Given the description of an element on the screen output the (x, y) to click on. 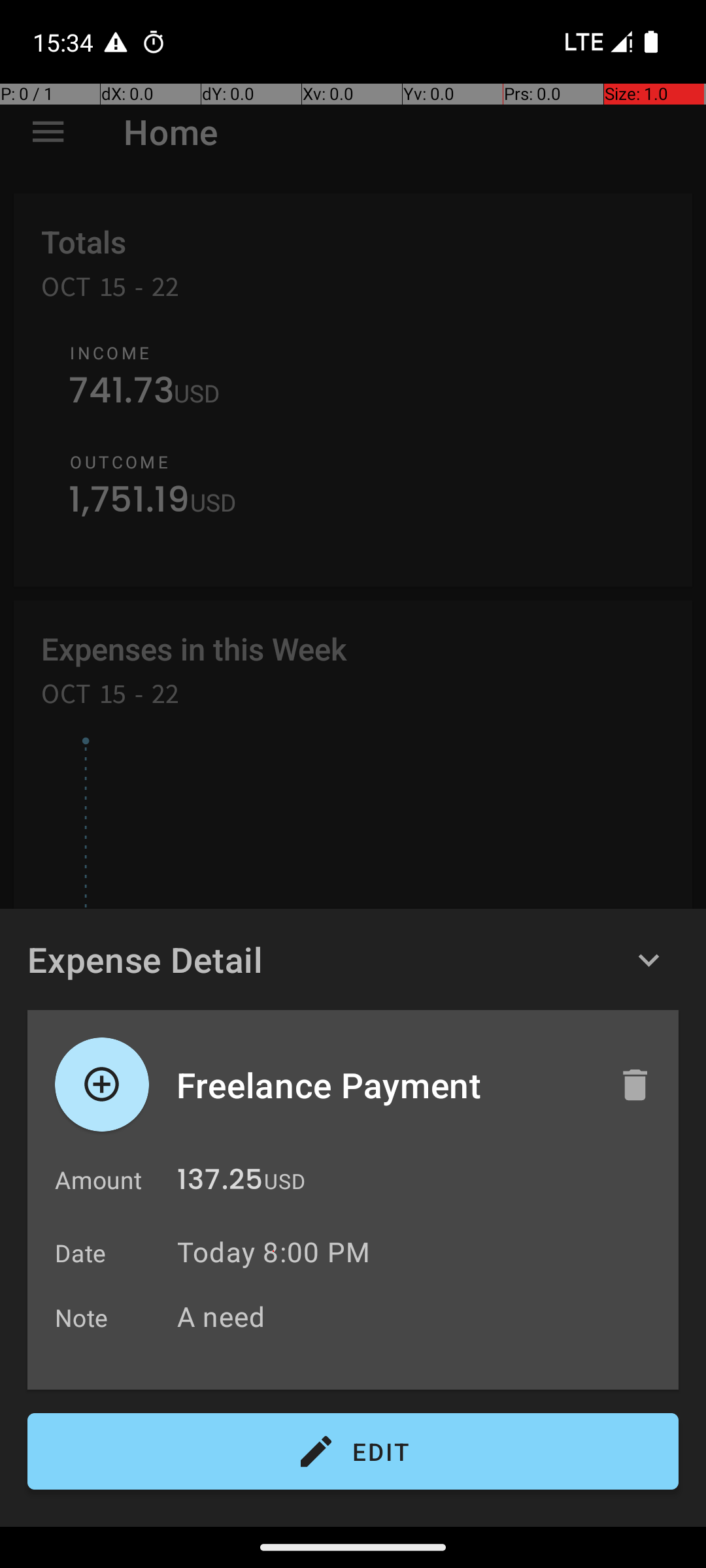
Freelance Payment Element type: android.widget.TextView (383, 1084)
137.25 Element type: android.widget.TextView (219, 1182)
Today 8:00 PM Element type: android.widget.TextView (273, 1251)
A need Element type: android.widget.TextView (420, 1315)
